Given the description of an element on the screen output the (x, y) to click on. 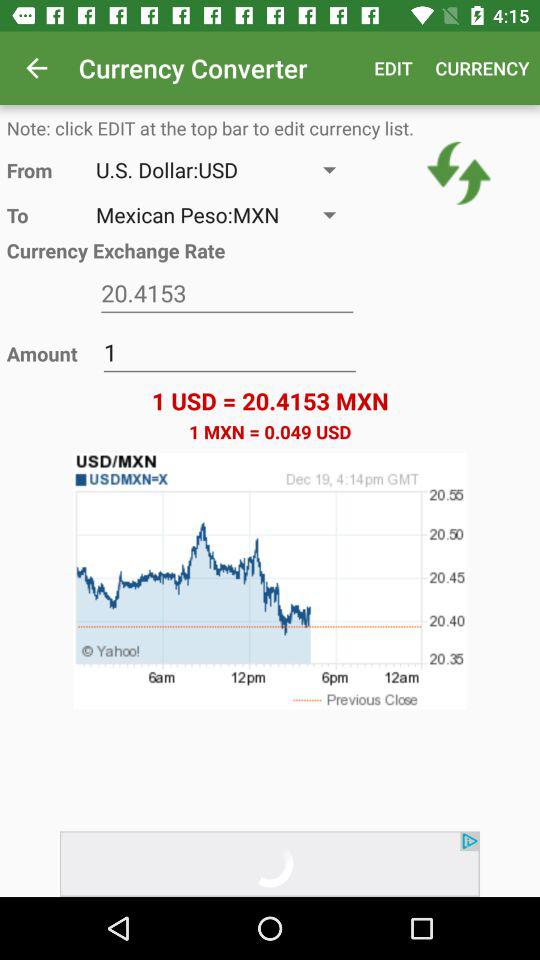
exchange rate (227, 293)
